Given the description of an element on the screen output the (x, y) to click on. 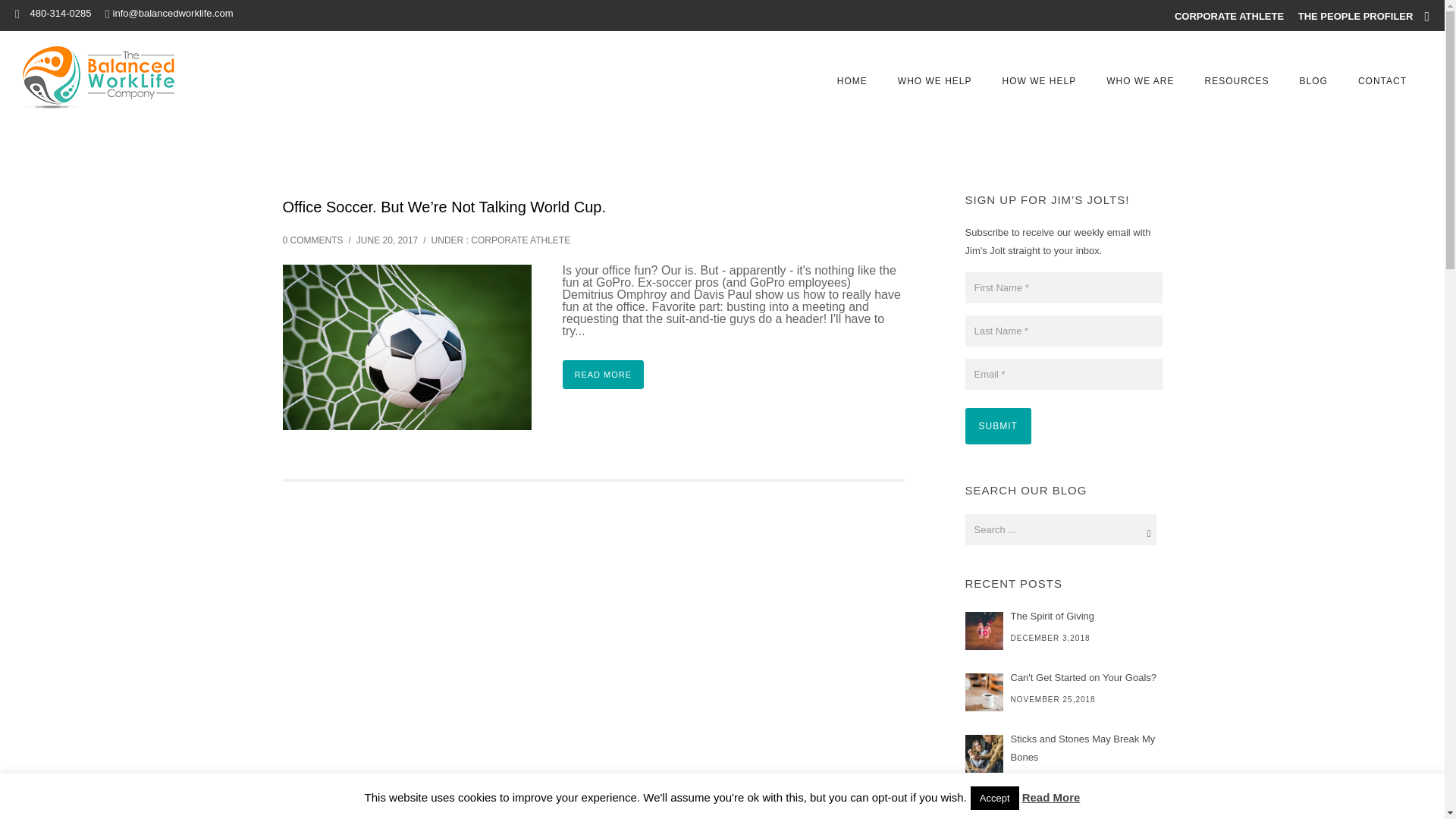
HOW WE HELP (1039, 81)
Who We Are (1139, 81)
CONTACT (1382, 81)
480-314-0285 (59, 12)
Who We Help (934, 81)
Home (852, 81)
WHO WE HELP (934, 81)
WHO WE ARE (1139, 81)
Blog (1313, 81)
CORPORATE ATHLETE (1229, 16)
How We Help (1039, 81)
Resources (1236, 81)
BLOG (1313, 81)
HOME (852, 81)
THE PEOPLE PROFILER (1355, 16)
